Given the description of an element on the screen output the (x, y) to click on. 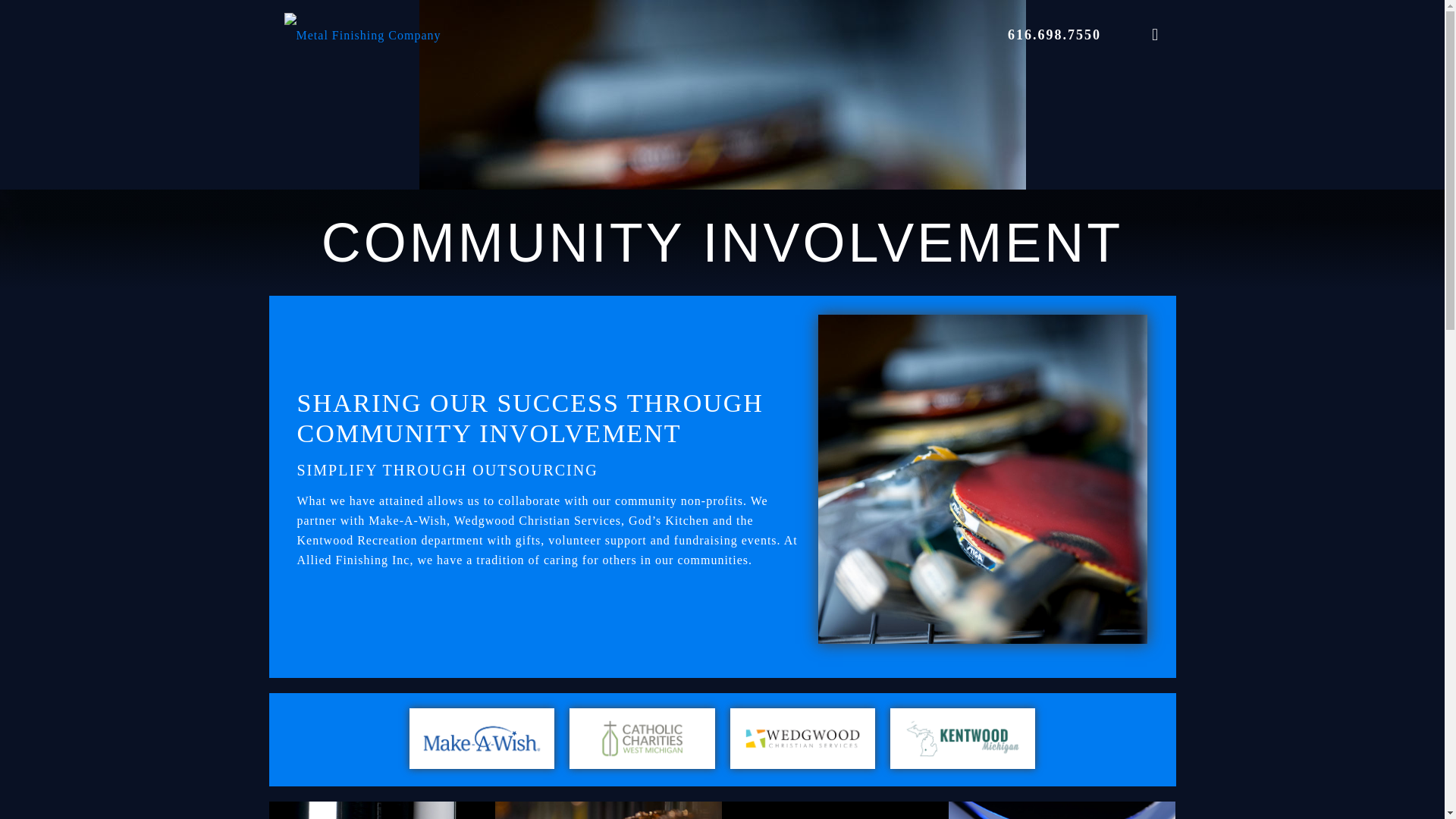
616.698.7550 (1053, 34)
Allied Finishing (362, 34)
